Given the description of an element on the screen output the (x, y) to click on. 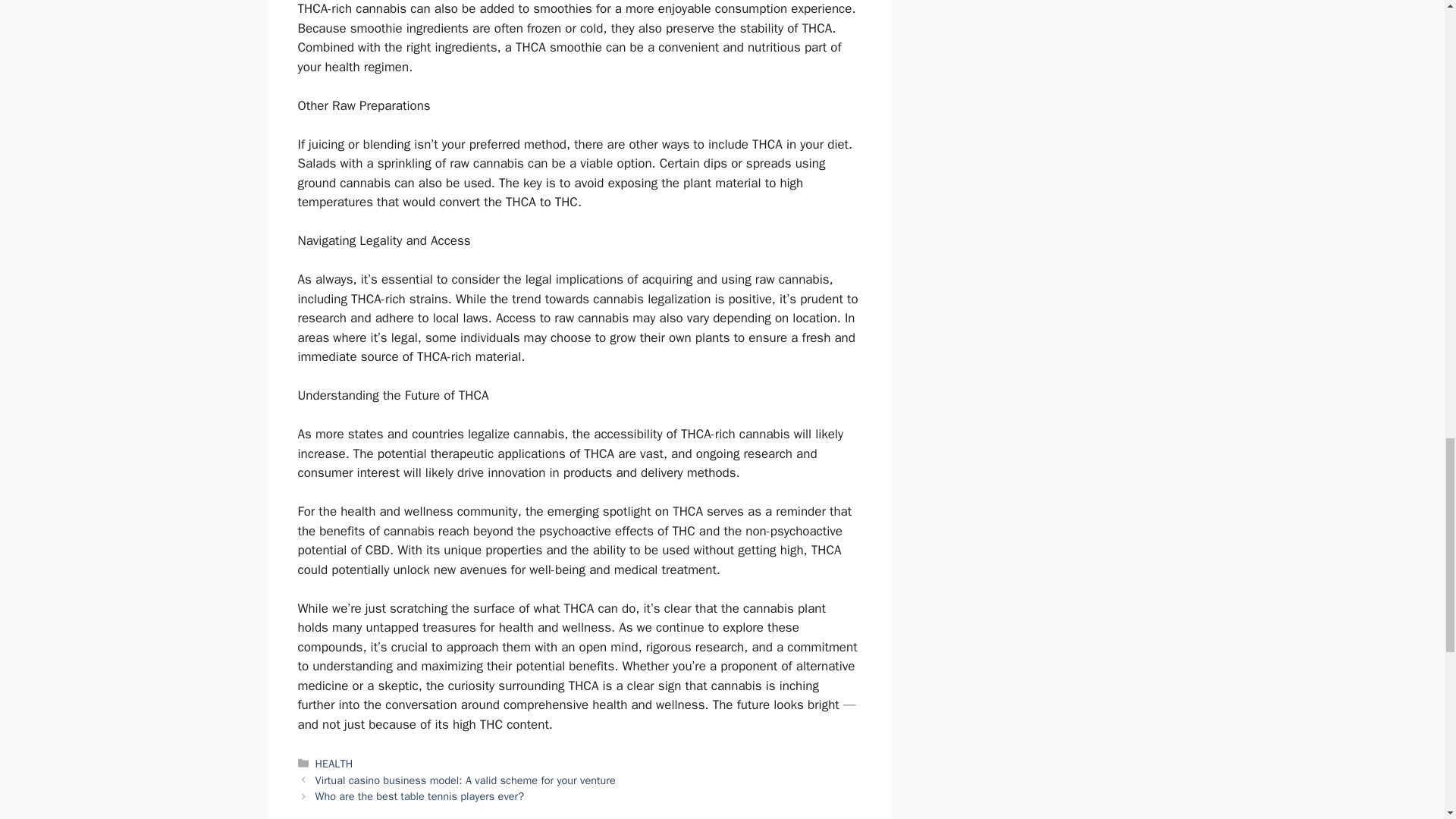
Who are the best table tennis players ever? (419, 796)
HEALTH (334, 763)
